Given the description of an element on the screen output the (x, y) to click on. 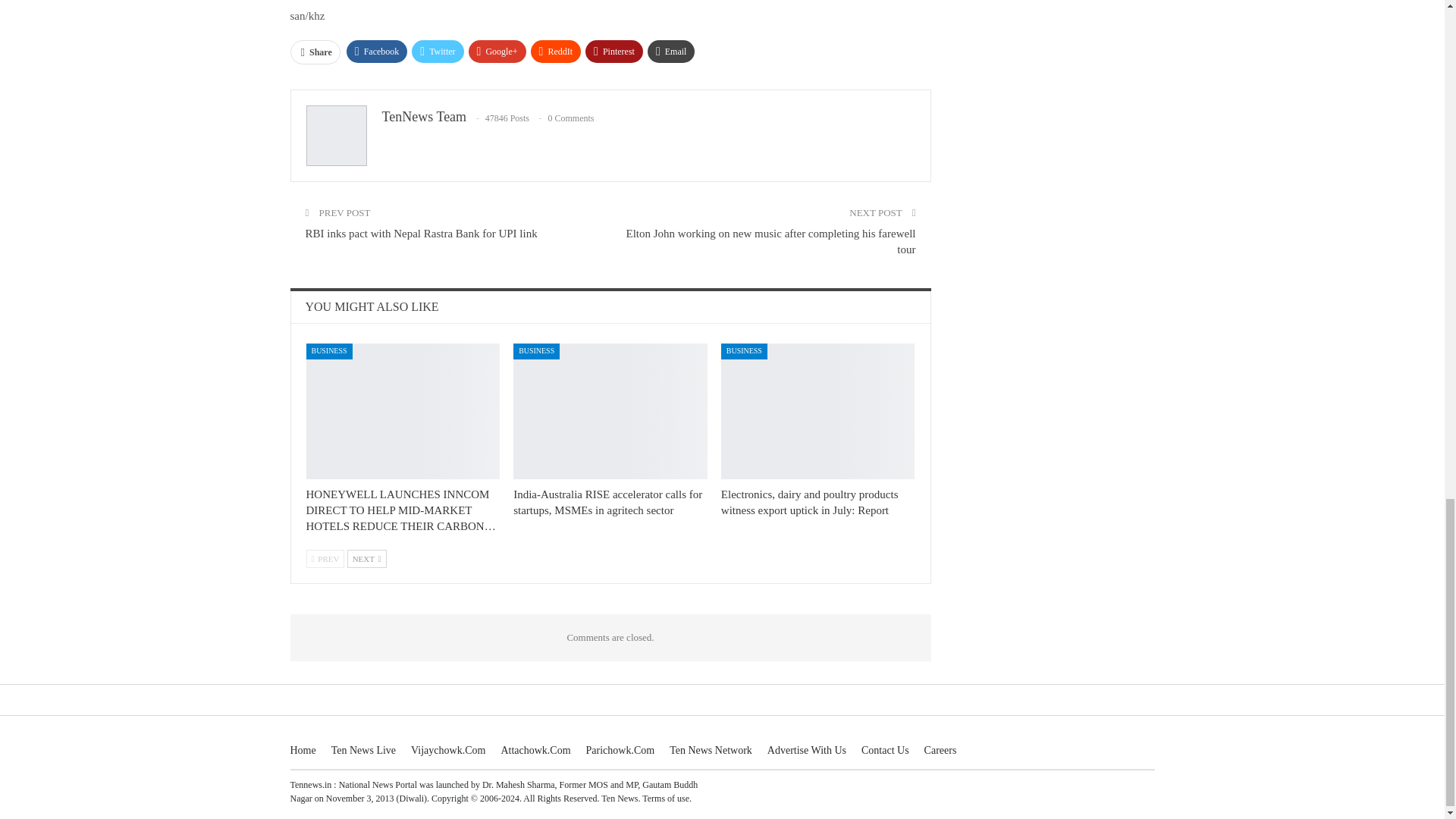
ReddIt (555, 51)
Twitter (437, 51)
Facebook (376, 51)
Previous (325, 558)
